Given the description of an element on the screen output the (x, y) to click on. 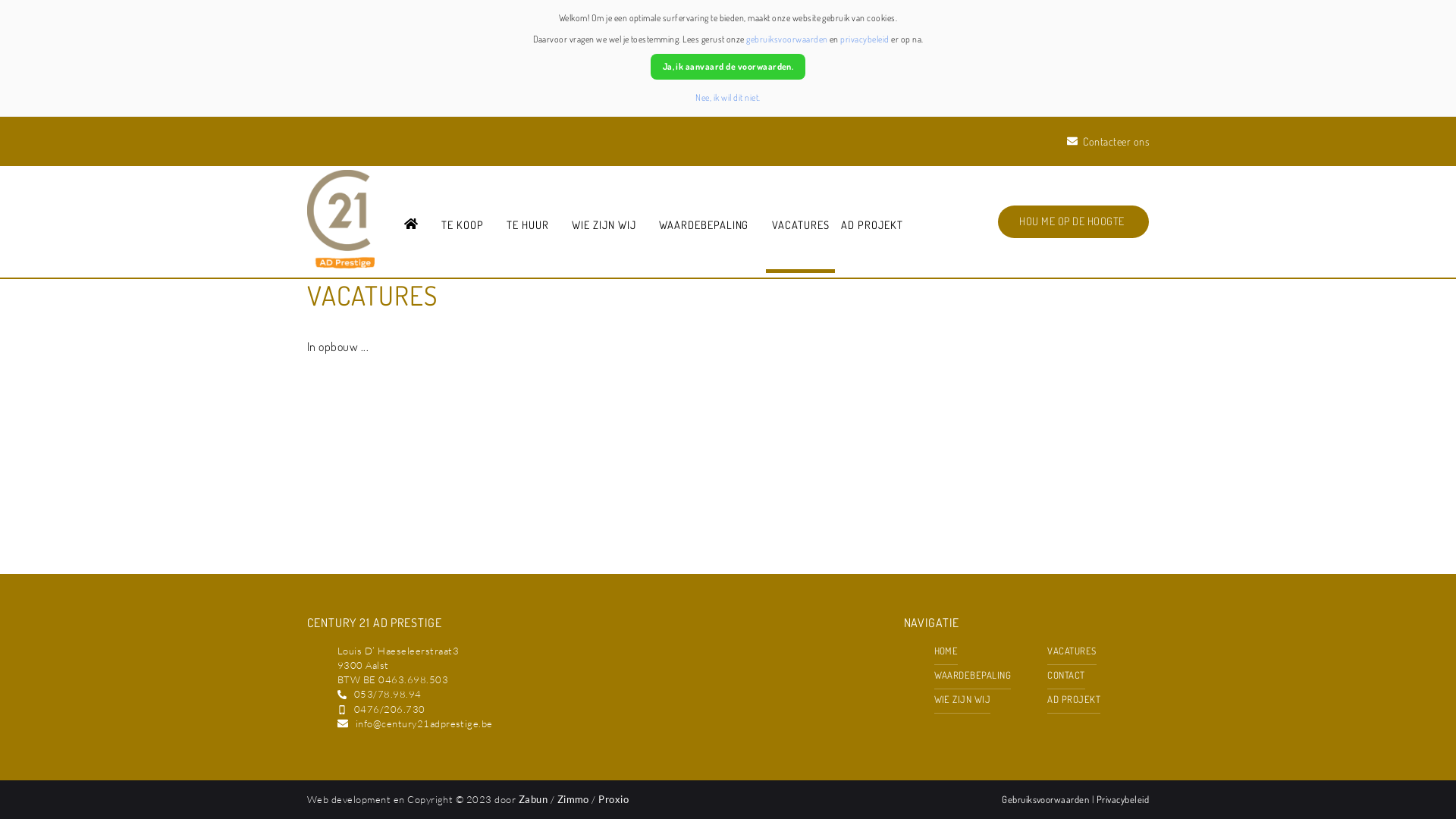
HOME Element type: text (410, 226)
WAARDEBEPALING Element type: text (972, 674)
WIE ZIJN WIJ Element type: text (603, 226)
Privacybeleid Element type: text (1122, 799)
Gebruiksvoorwaarden Element type: text (1046, 799)
Contacteer ons Element type: text (1107, 140)
VACATURES Element type: text (1071, 650)
AD PROJEKT Element type: text (1073, 699)
gebruiksvoorwaarden Element type: text (786, 38)
Proxio Element type: text (613, 799)
info@century21adprestige.be Element type: text (423, 723)
Zimmo Element type: text (573, 799)
AD PROJEKT Element type: text (871, 226)
privacybeleid Element type: text (864, 38)
HOME Element type: text (946, 650)
WAARDEBEPALING Element type: text (703, 226)
CONTACT Element type: text (1065, 674)
VACATURES Element type: text (800, 226)
Nee, ik wil dit niet. Element type: text (727, 97)
TE KOOP Element type: text (462, 226)
Ja, ik aanvaard de voorwaarden. Element type: text (728, 66)
HOU ME OP DE HOOGTE Element type: text (1072, 221)
TE HUUR Element type: text (527, 226)
WIE ZIJN WIJ Element type: text (962, 699)
Zabun Element type: text (532, 799)
